Given the description of an element on the screen output the (x, y) to click on. 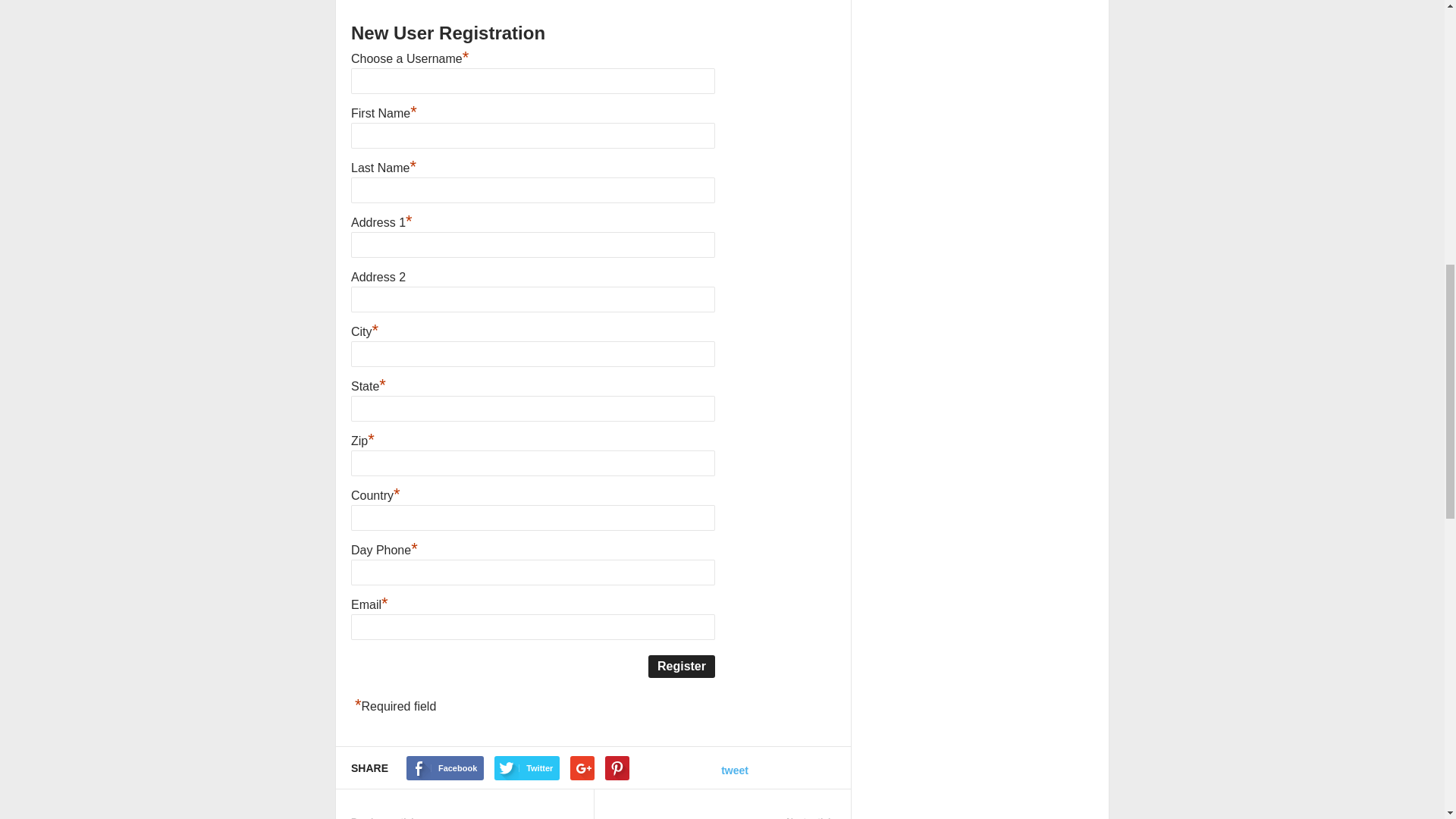
Register (680, 666)
